Given the description of an element on the screen output the (x, y) to click on. 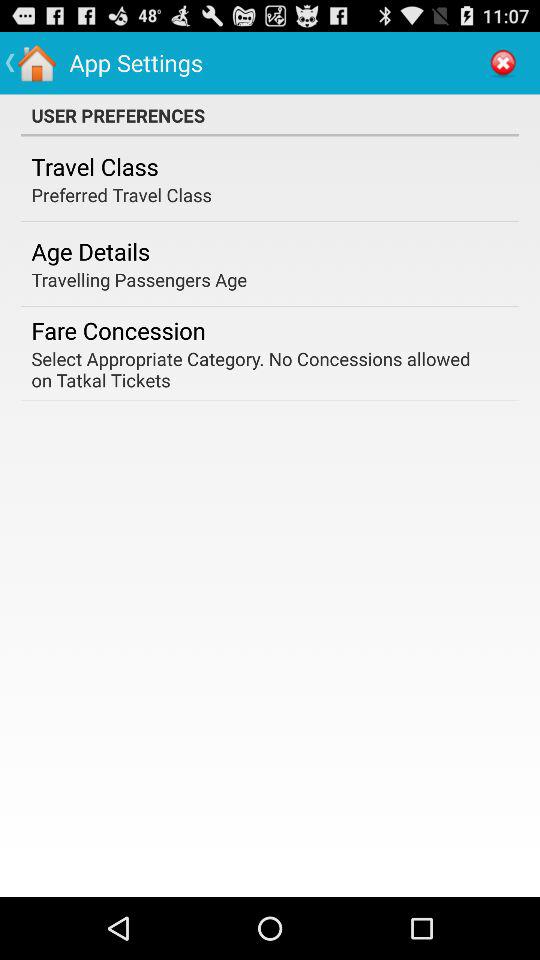
turn on fare concession on the left (118, 330)
